Given the description of an element on the screen output the (x, y) to click on. 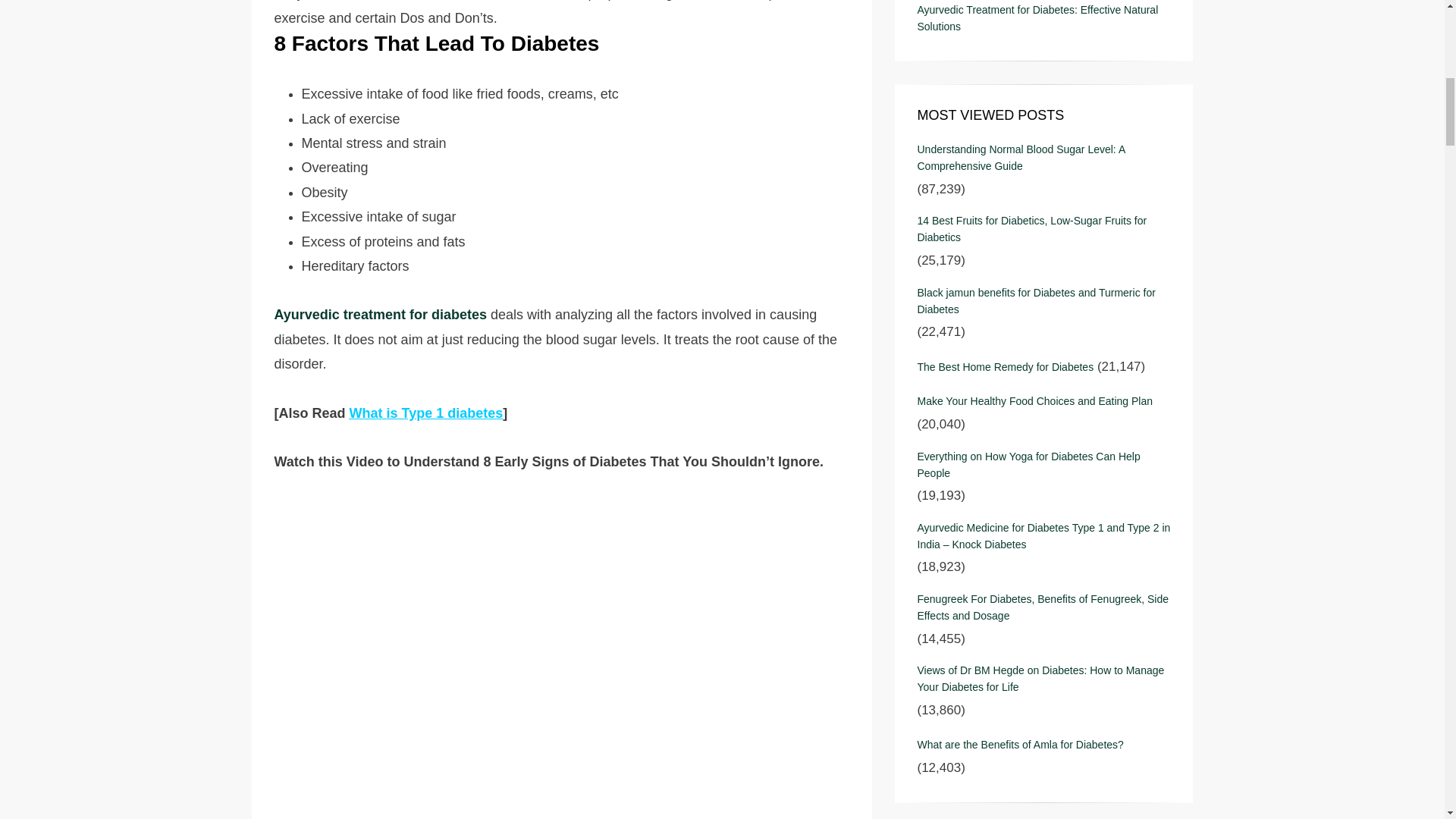
Ayurvedic treatment for diabetes (380, 314)
What is Type 1 diabetes (426, 412)
